Given the description of an element on the screen output the (x, y) to click on. 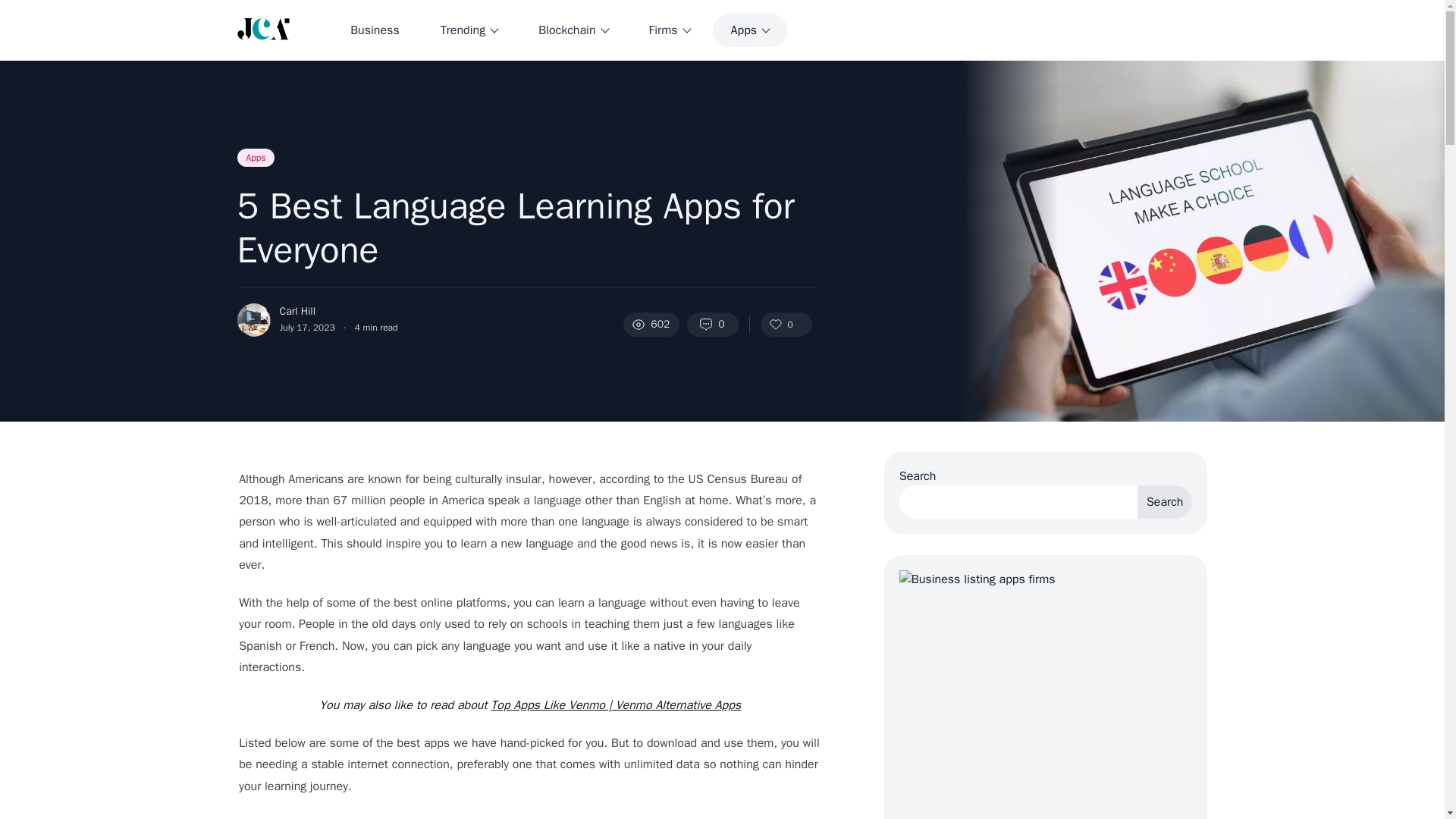
Comments (712, 324)
Blockchain (572, 29)
Business (374, 29)
Firms (668, 29)
Trending (468, 29)
Views (650, 324)
